Given the description of an element on the screen output the (x, y) to click on. 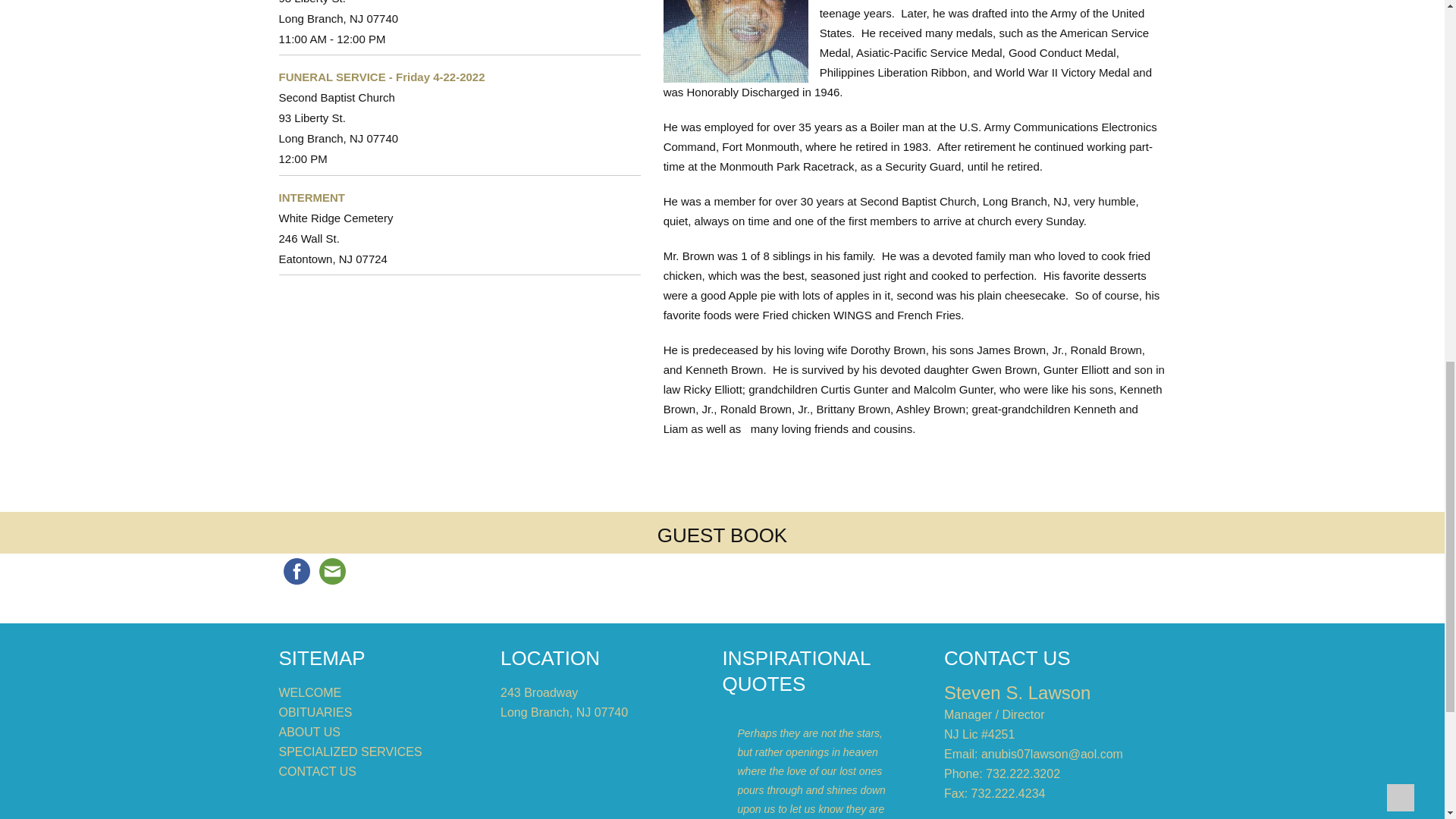
WELCOME (310, 692)
email (331, 570)
CONTACT US (317, 771)
facebook (296, 570)
OBITUARIES (315, 712)
ABOUT US (309, 731)
SPECIALIZED SERVICES (350, 751)
